Given the description of an element on the screen output the (x, y) to click on. 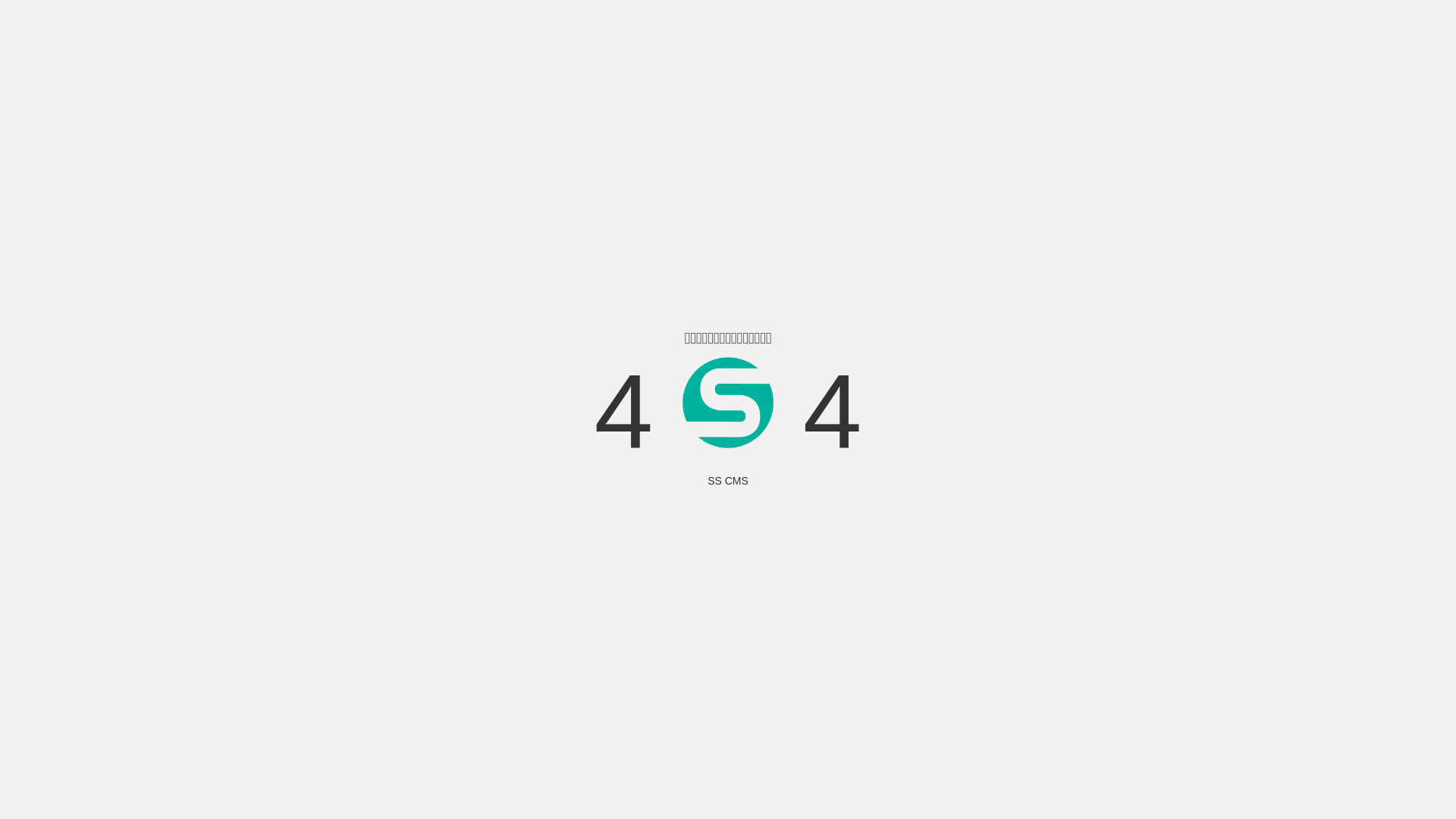
SS CMS Element type: text (727, 480)
